Given the description of an element on the screen output the (x, y) to click on. 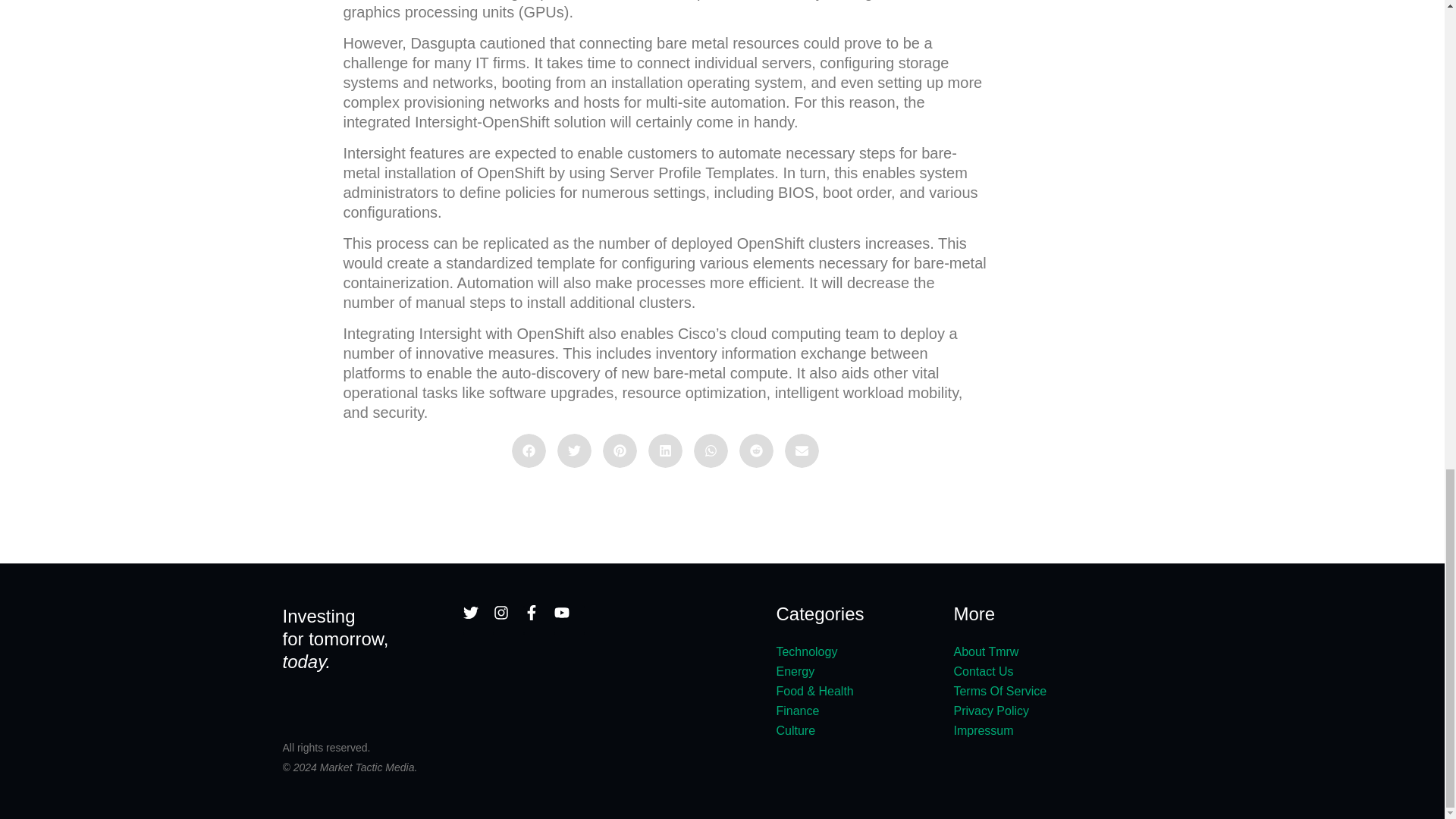
Finance (856, 711)
About Tmrw (1057, 651)
Energy (856, 671)
Technology (856, 651)
Terms Of Service (1057, 691)
Privacy Policy (1057, 711)
Contact Us (1057, 671)
Impressum (1057, 731)
Culture (856, 731)
